Given the description of an element on the screen output the (x, y) to click on. 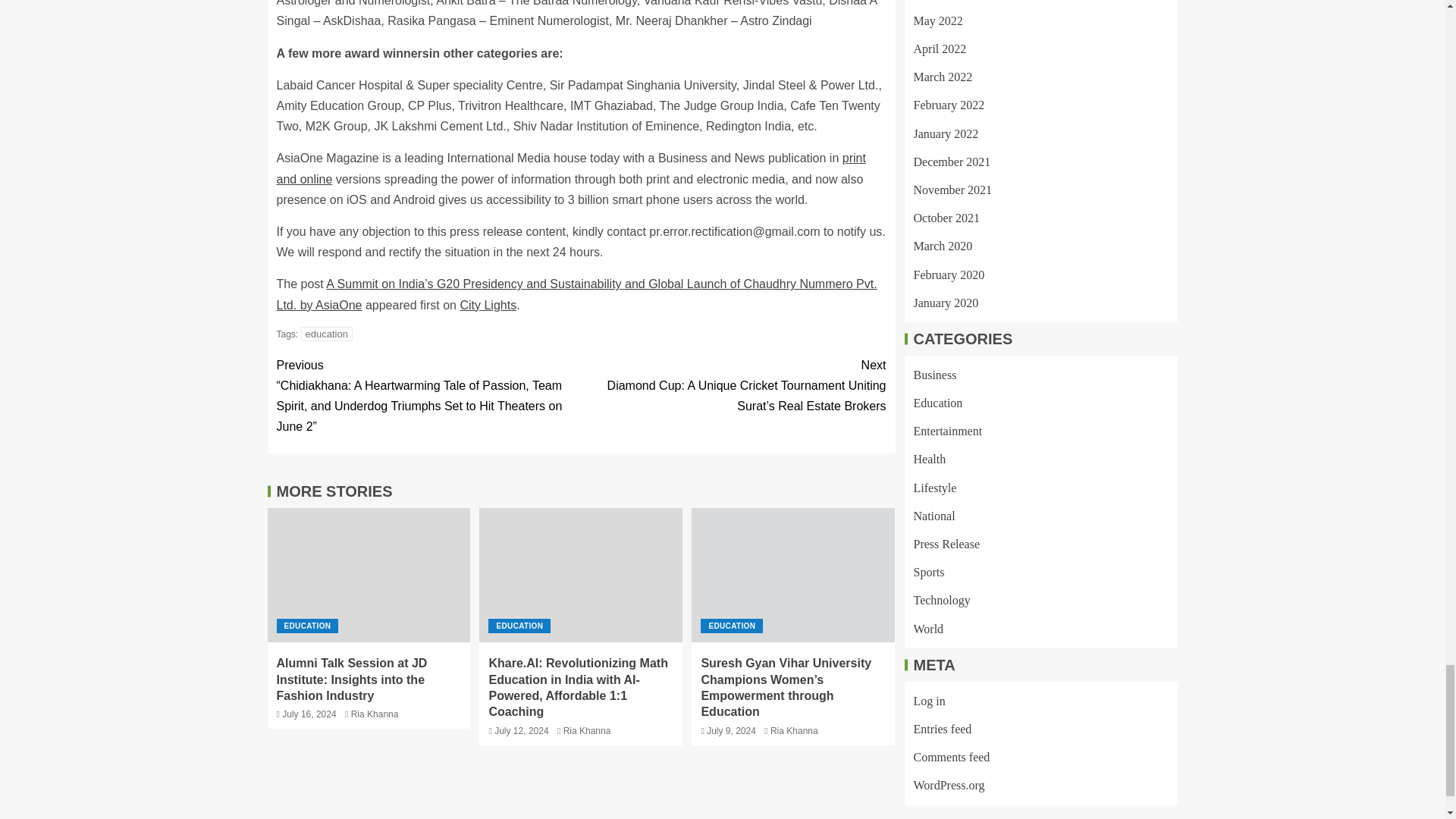
City Lights (488, 305)
education (326, 333)
print and online (570, 168)
